Given the description of an element on the screen output the (x, y) to click on. 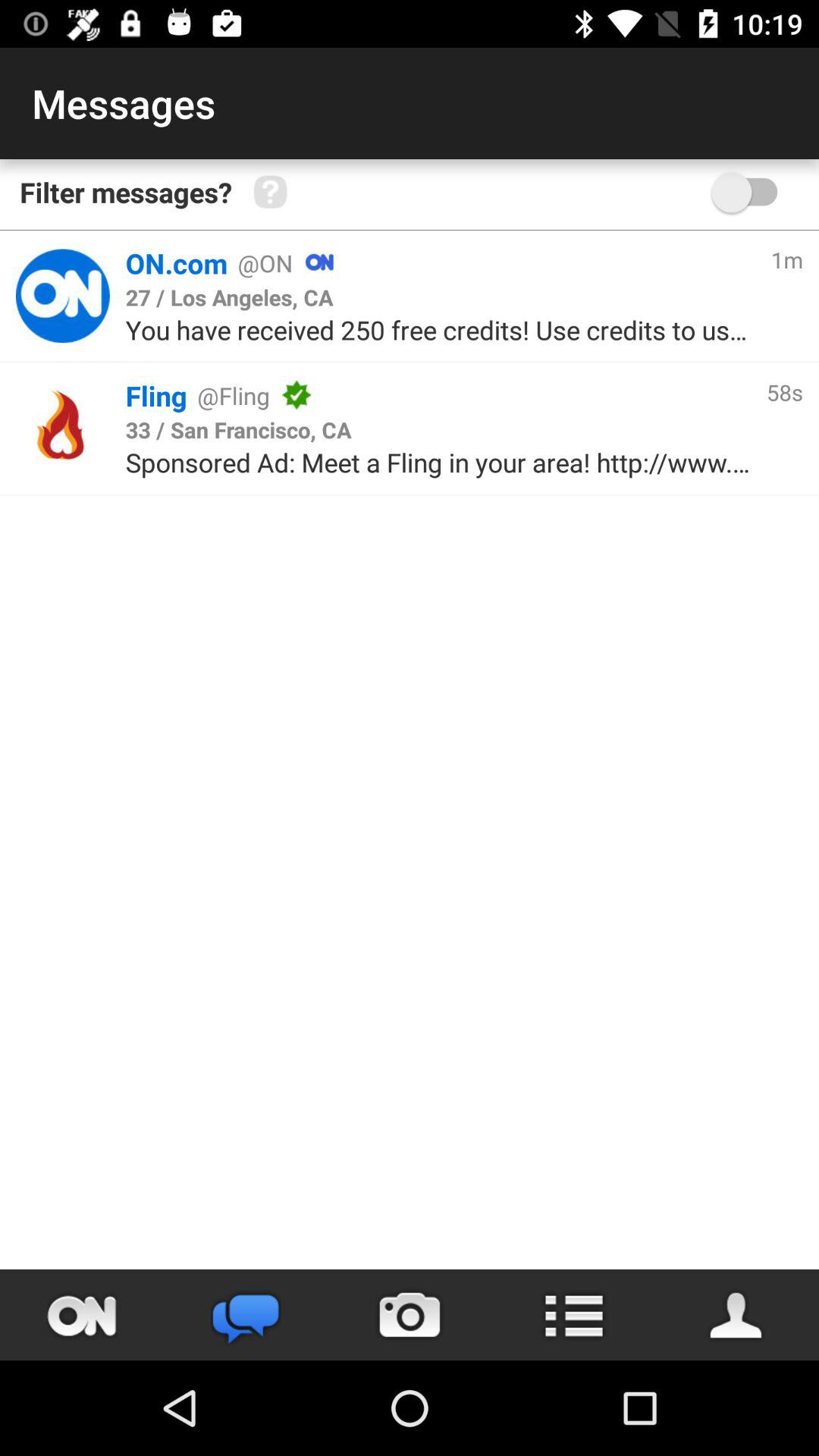
goes to the on.com profile (62, 295)
